Given the description of an element on the screen output the (x, y) to click on. 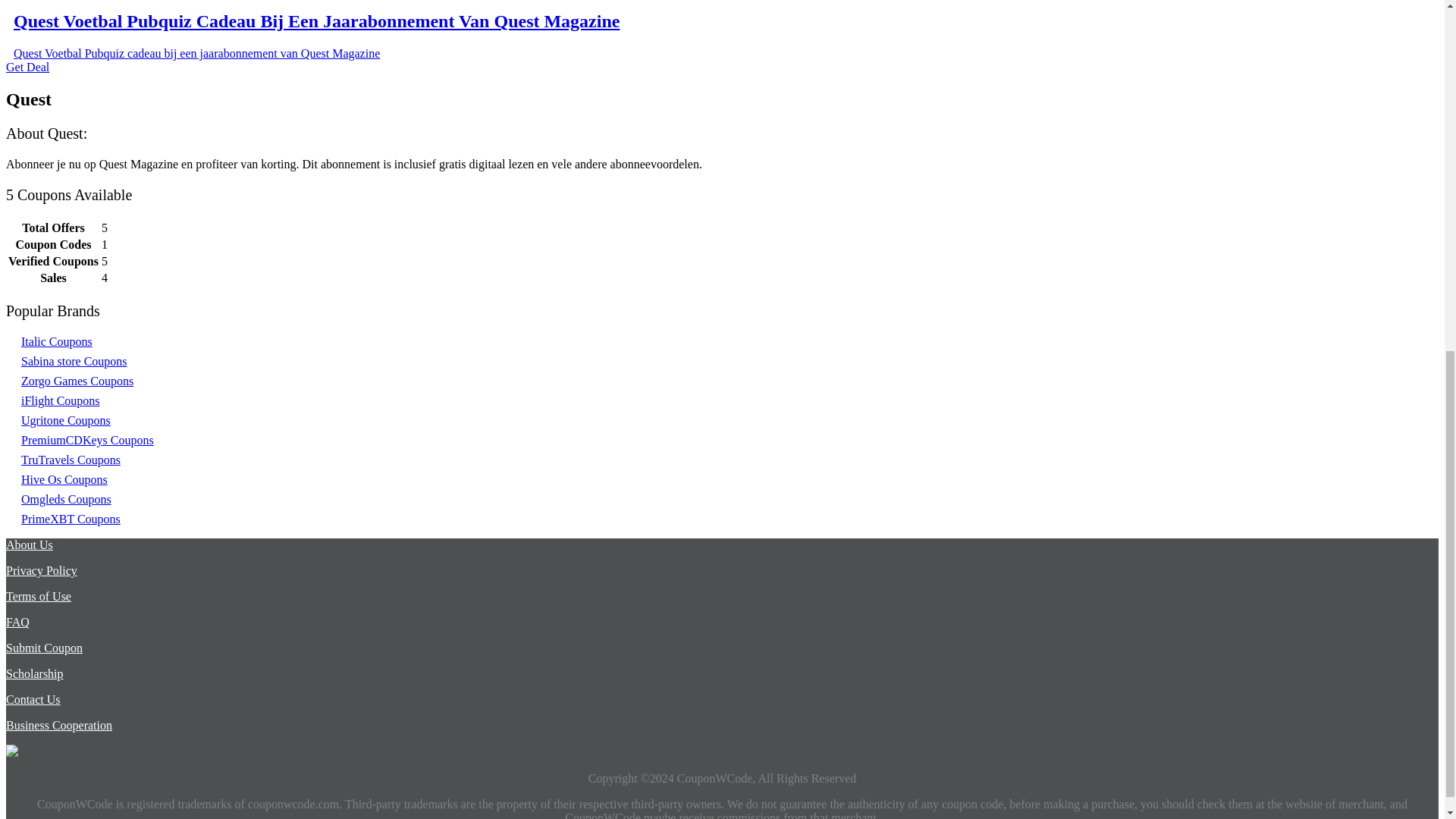
About Us (28, 544)
Contact Us (33, 698)
Business Cooperation (58, 725)
Submit Coupon (43, 647)
Privacy Policy (41, 570)
Get Deal (27, 66)
Scholarship (34, 673)
FAQ (17, 621)
Terms of Use (38, 595)
